Given the description of an element on the screen output the (x, y) to click on. 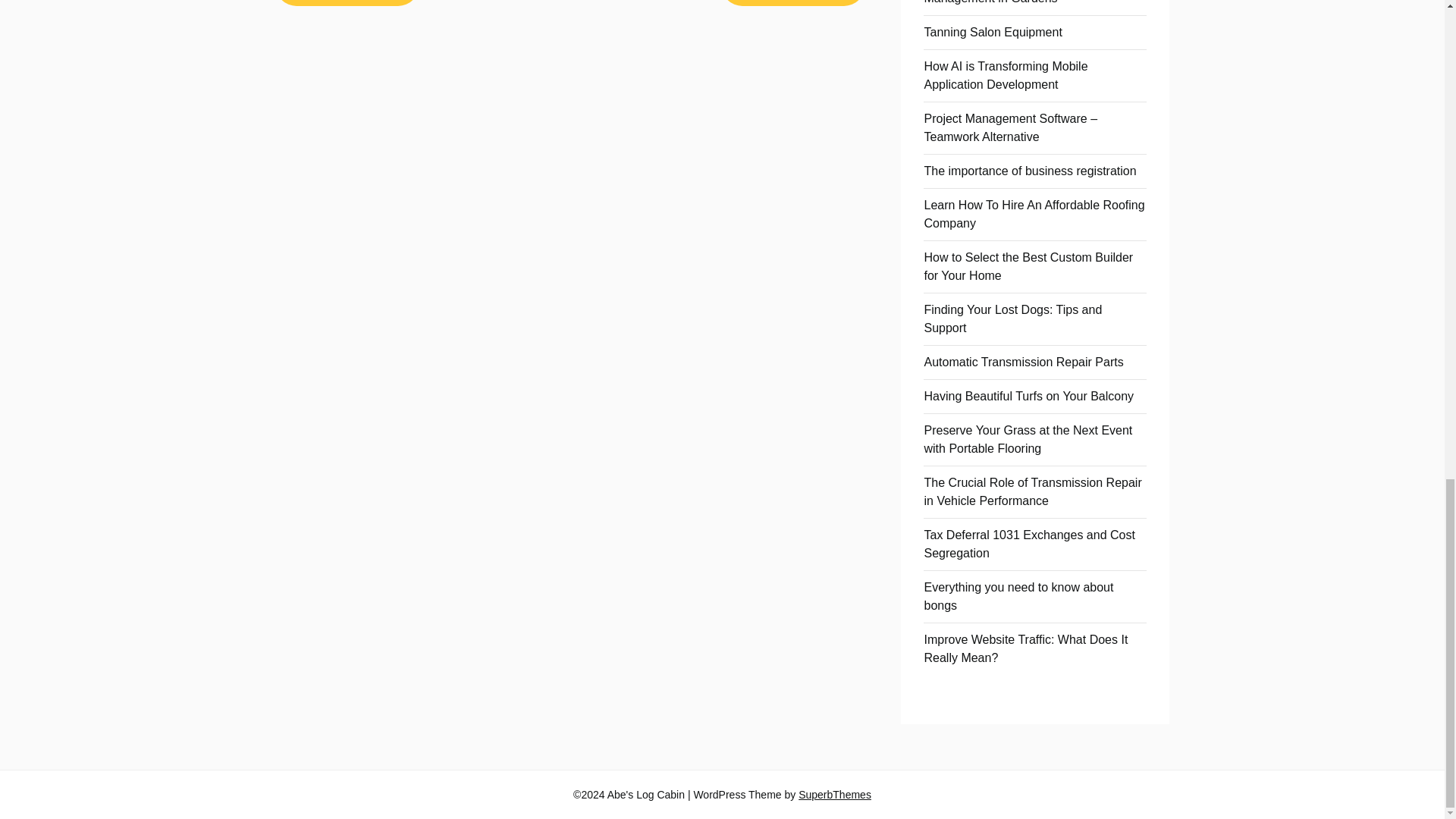
How AI is Transforming Mobile Application Development (1005, 74)
Tanning Salon Equipment (992, 31)
Tax Deferral 1031 Exchanges and Cost Segregation (1028, 543)
Learn How To Hire An Affordable Roofing Company (1033, 214)
Everything you need to know about bongs (1018, 595)
Previous post (347, 2)
Improve Website Traffic: What Does It Really Mean? (1024, 648)
Automatic Transmission Repair Parts (1022, 361)
Innovative Strategies for Weed Management in Gardens (1006, 2)
